Given the description of an element on the screen output the (x, y) to click on. 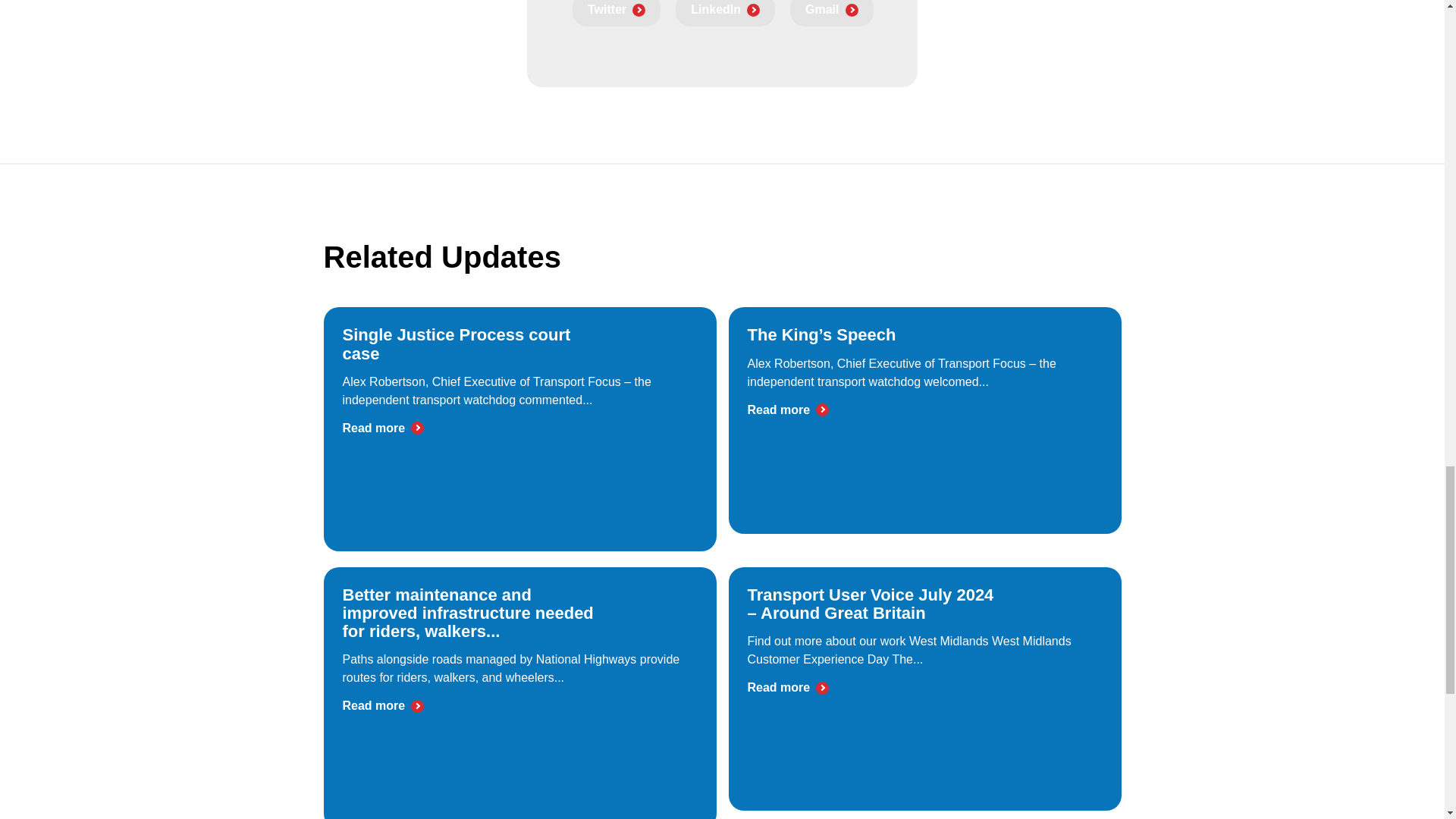
Gmail (831, 13)
Twitter (616, 13)
LinkedIn (724, 13)
